Given the description of an element on the screen output the (x, y) to click on. 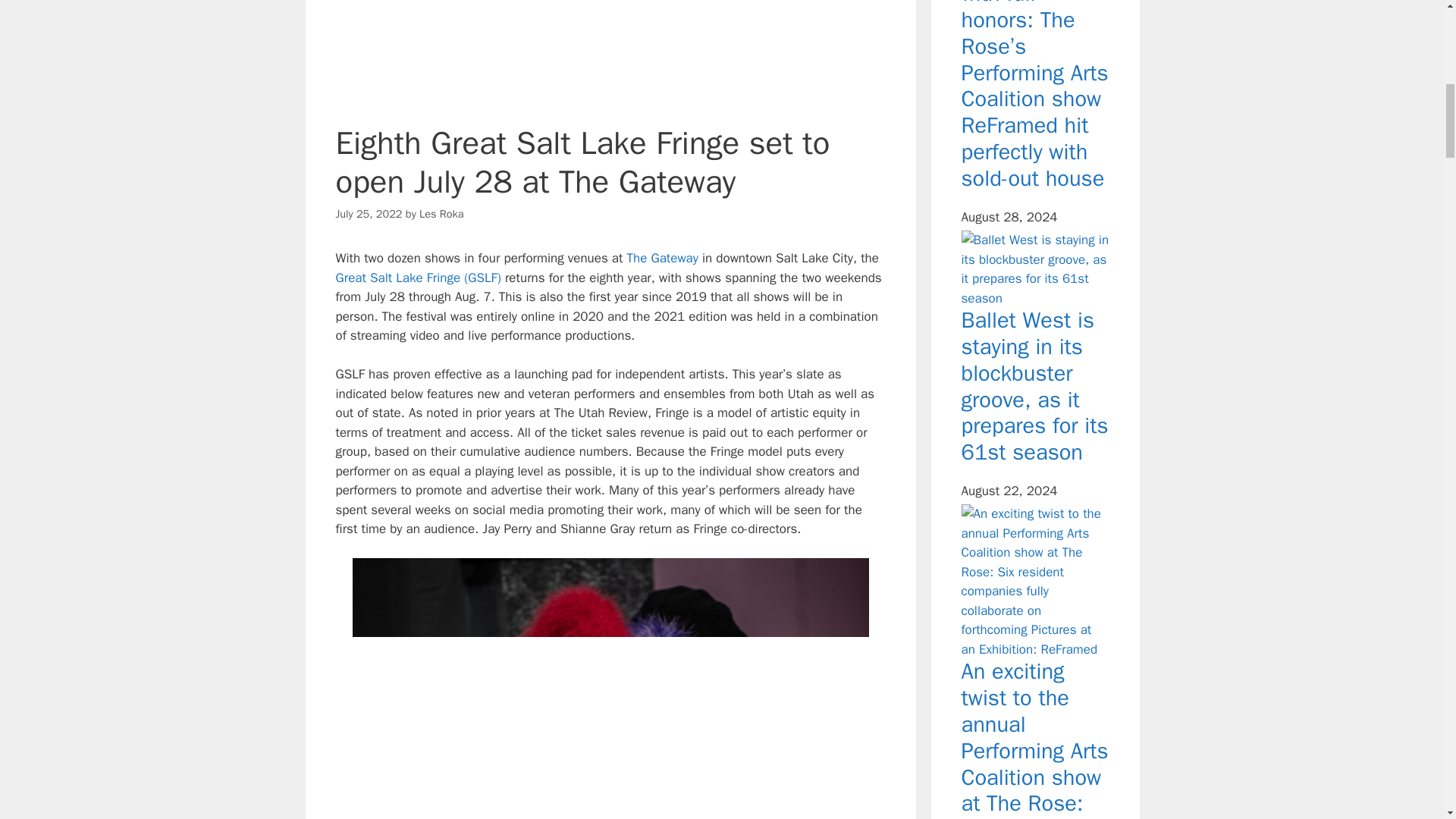
Les Roka (441, 213)
View all posts by Les Roka (441, 213)
The Gateway (663, 258)
